Given the description of an element on the screen output the (x, y) to click on. 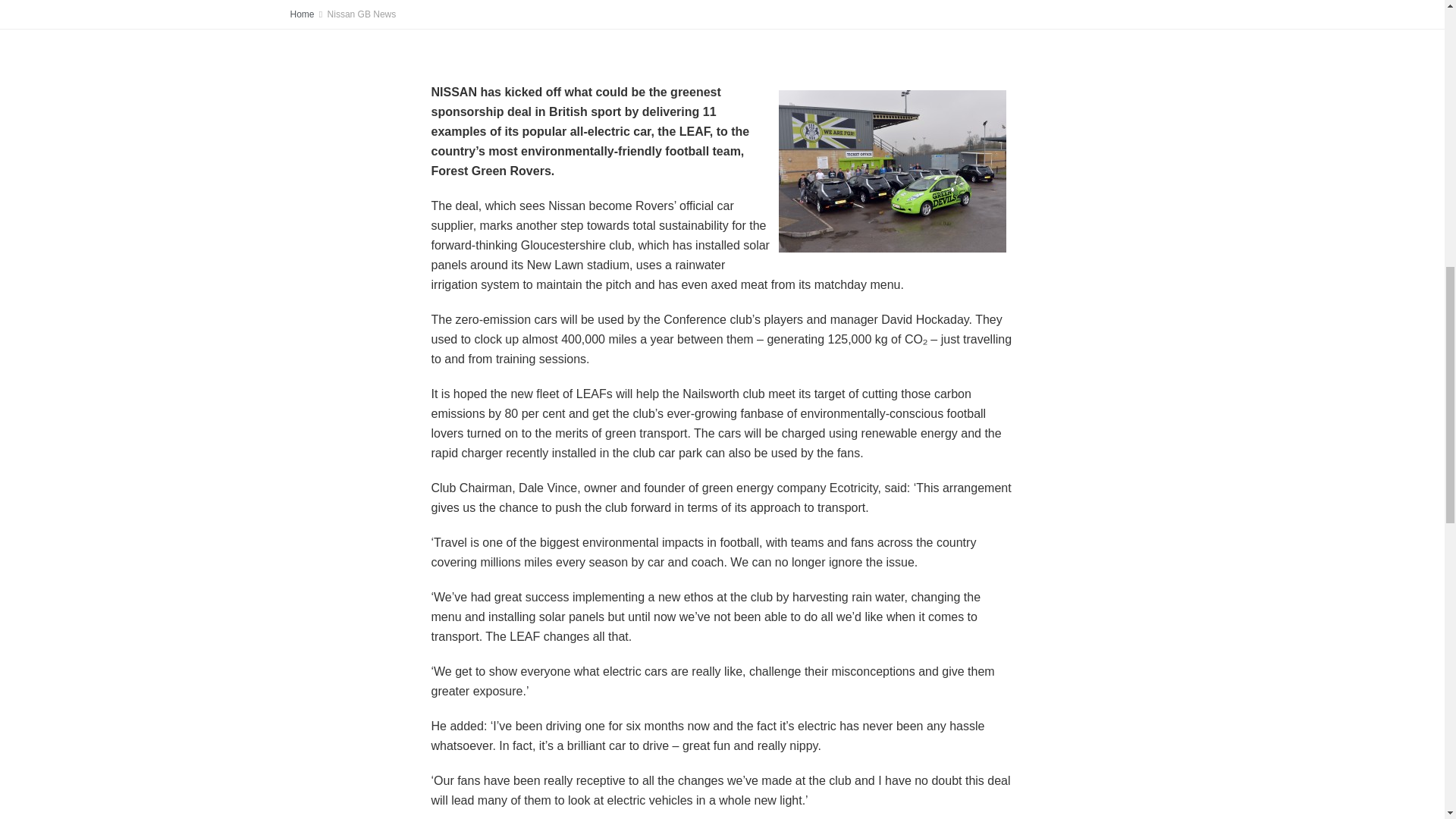
Home (301, 14)
Nissan GB News (361, 14)
